Given the description of an element on the screen output the (x, y) to click on. 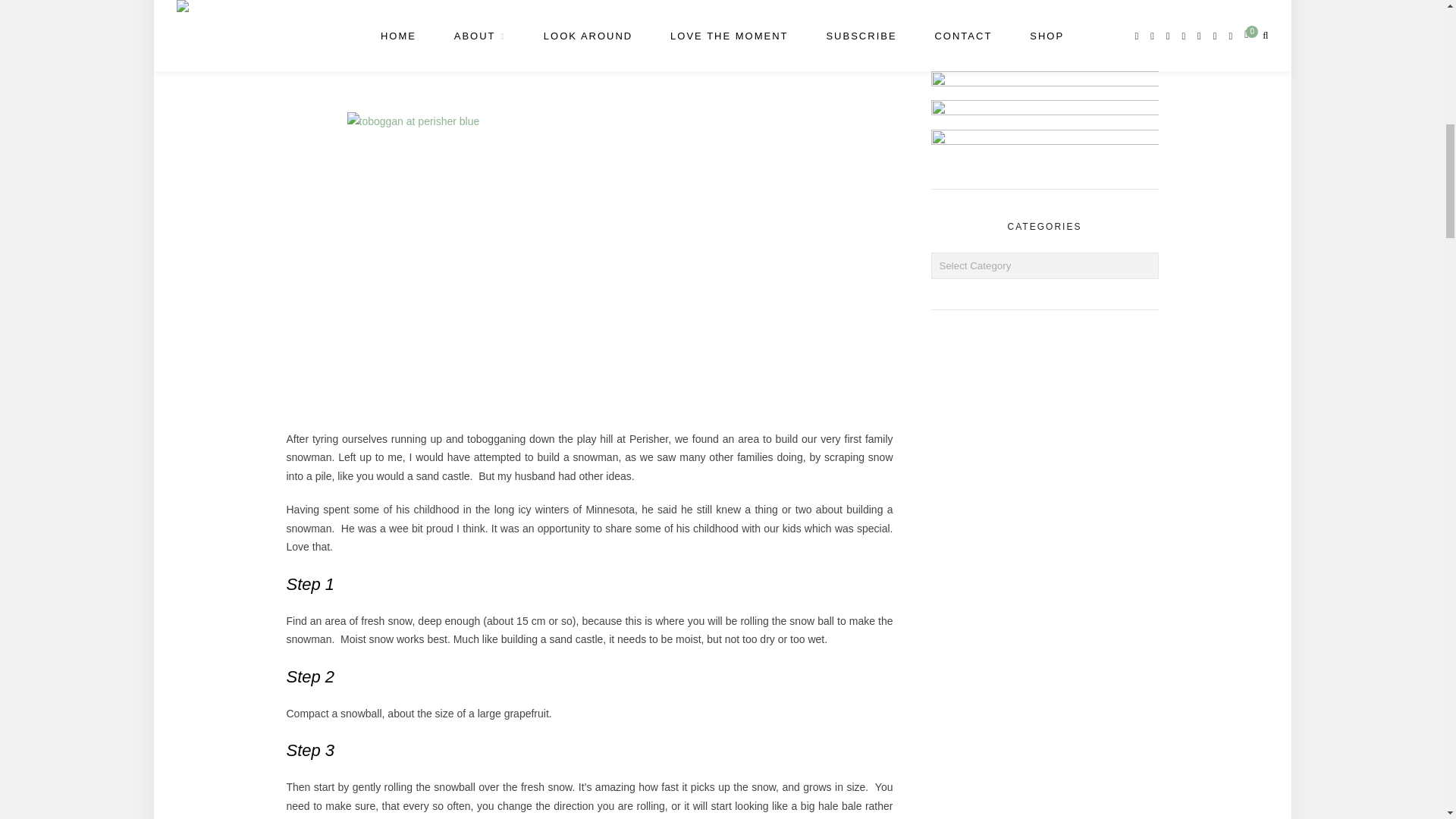
first time in the snow (589, 48)
